Given the description of an element on the screen output the (x, y) to click on. 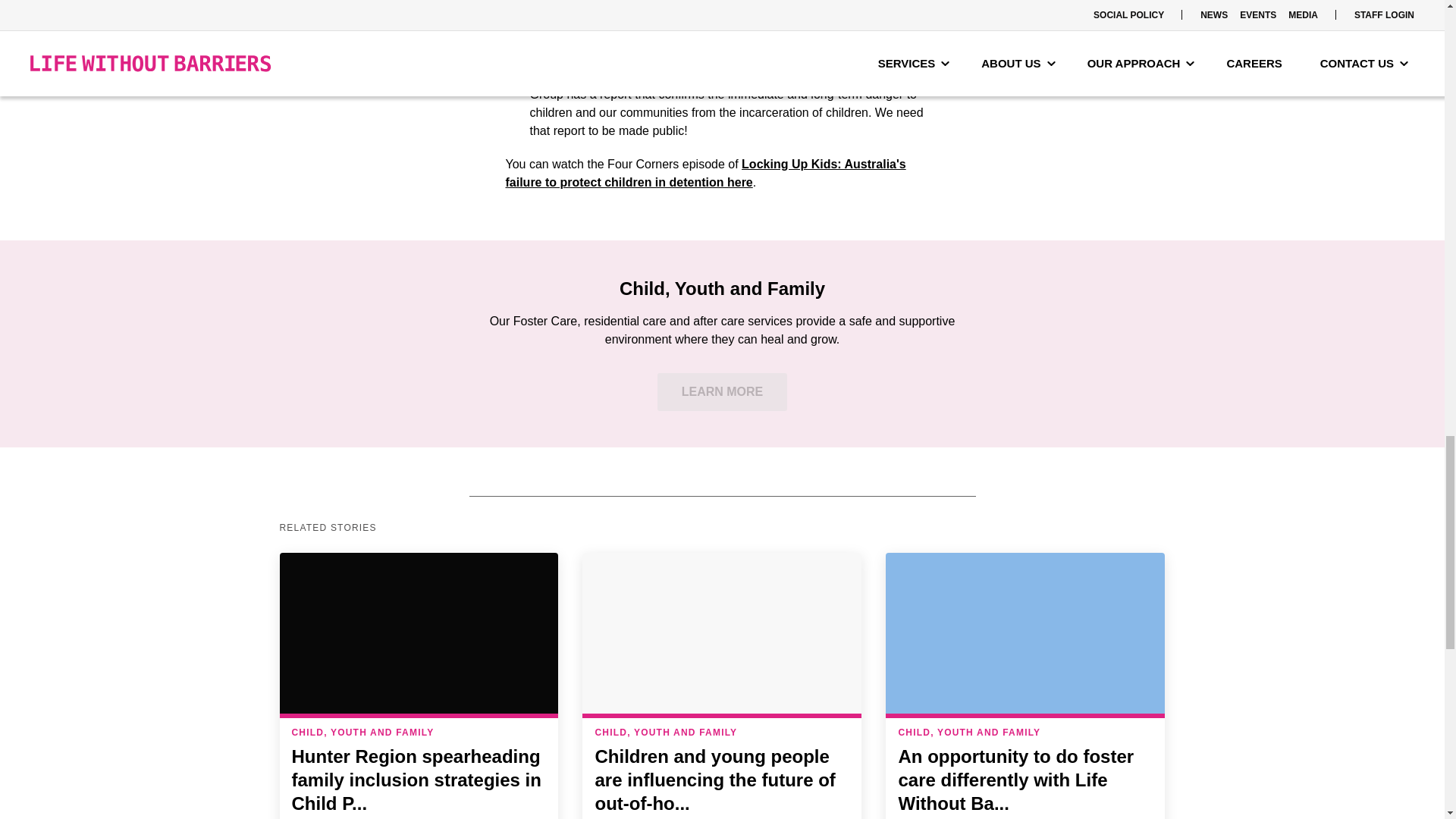
The Council of Attorneys-General (625, 75)
LEARN MORE (722, 392)
